Given the description of an element on the screen output the (x, y) to click on. 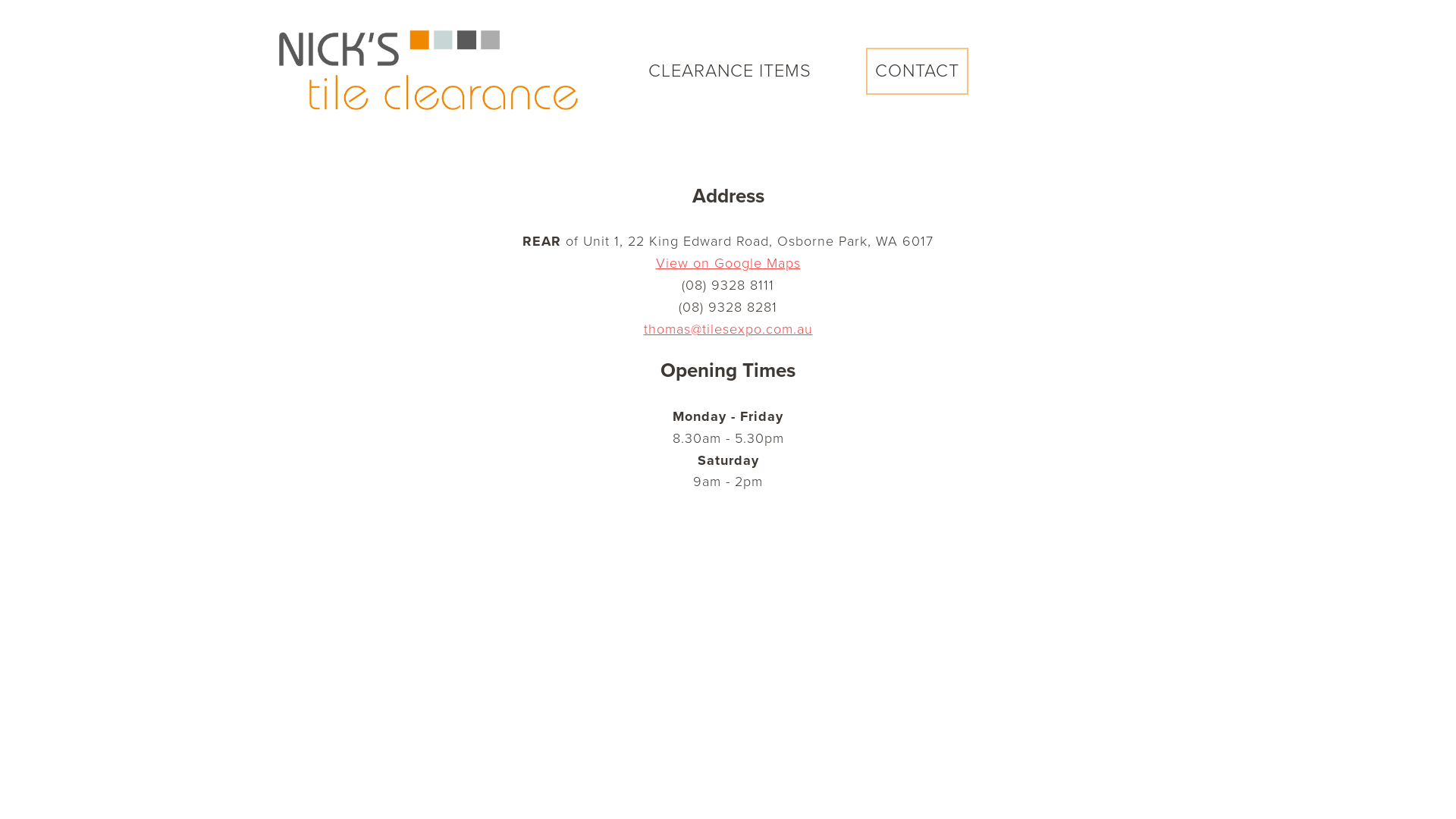
View on Google Maps Element type: text (727, 262)
CLEARANCE ITEMS Element type: text (728, 70)
thomas@tilesexpo.com.au Element type: text (727, 328)
CONTACT Element type: text (917, 70)
